Given the description of an element on the screen output the (x, y) to click on. 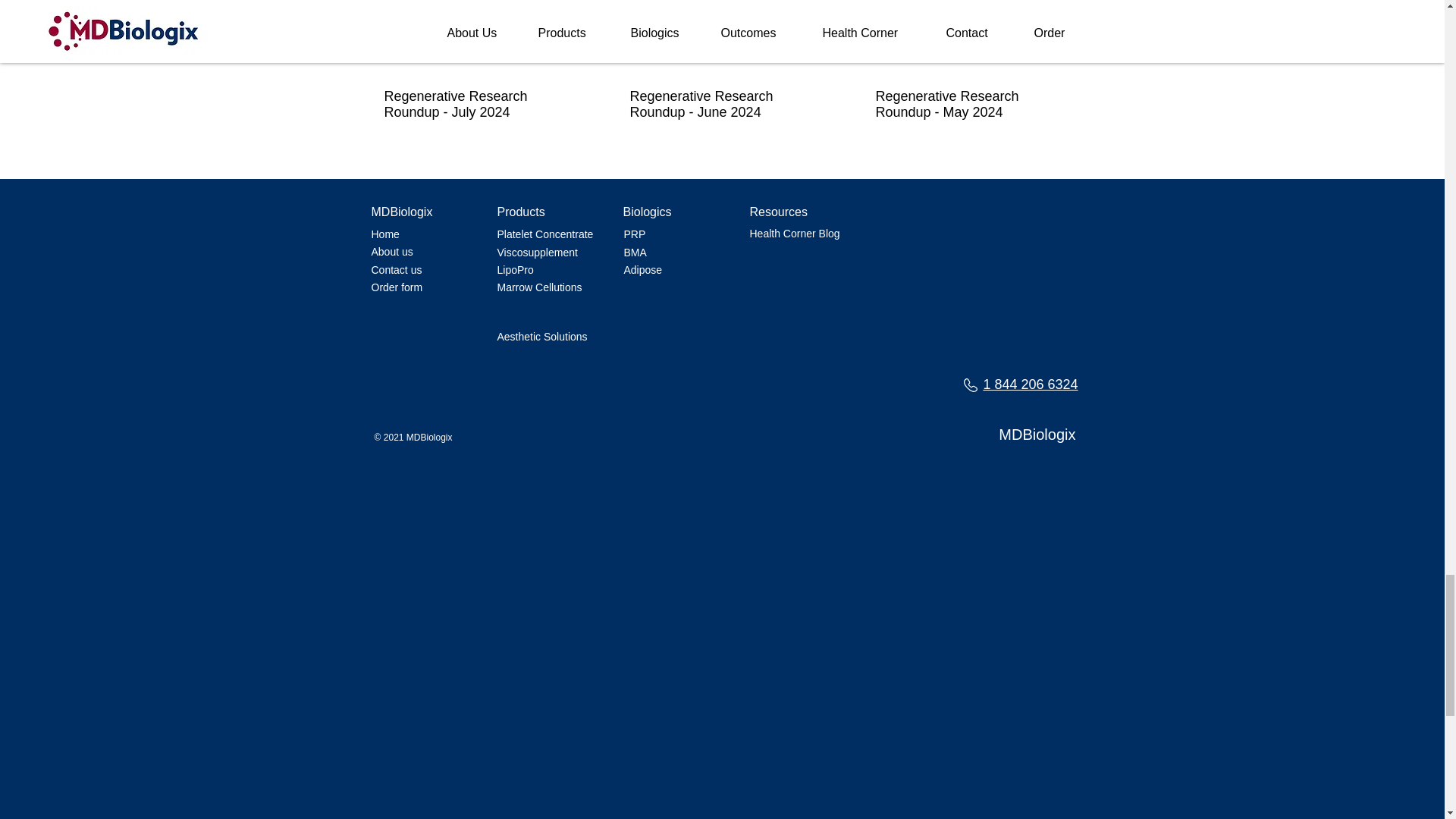
About us (392, 251)
Regenerative Research Roundup - June 2024 (720, 104)
Regenerative Research Roundup - May 2024 (966, 104)
Regenerative Research Roundup - July 2024 (475, 104)
Order form (397, 287)
Contact us (396, 269)
Home (384, 234)
